Given the description of an element on the screen output the (x, y) to click on. 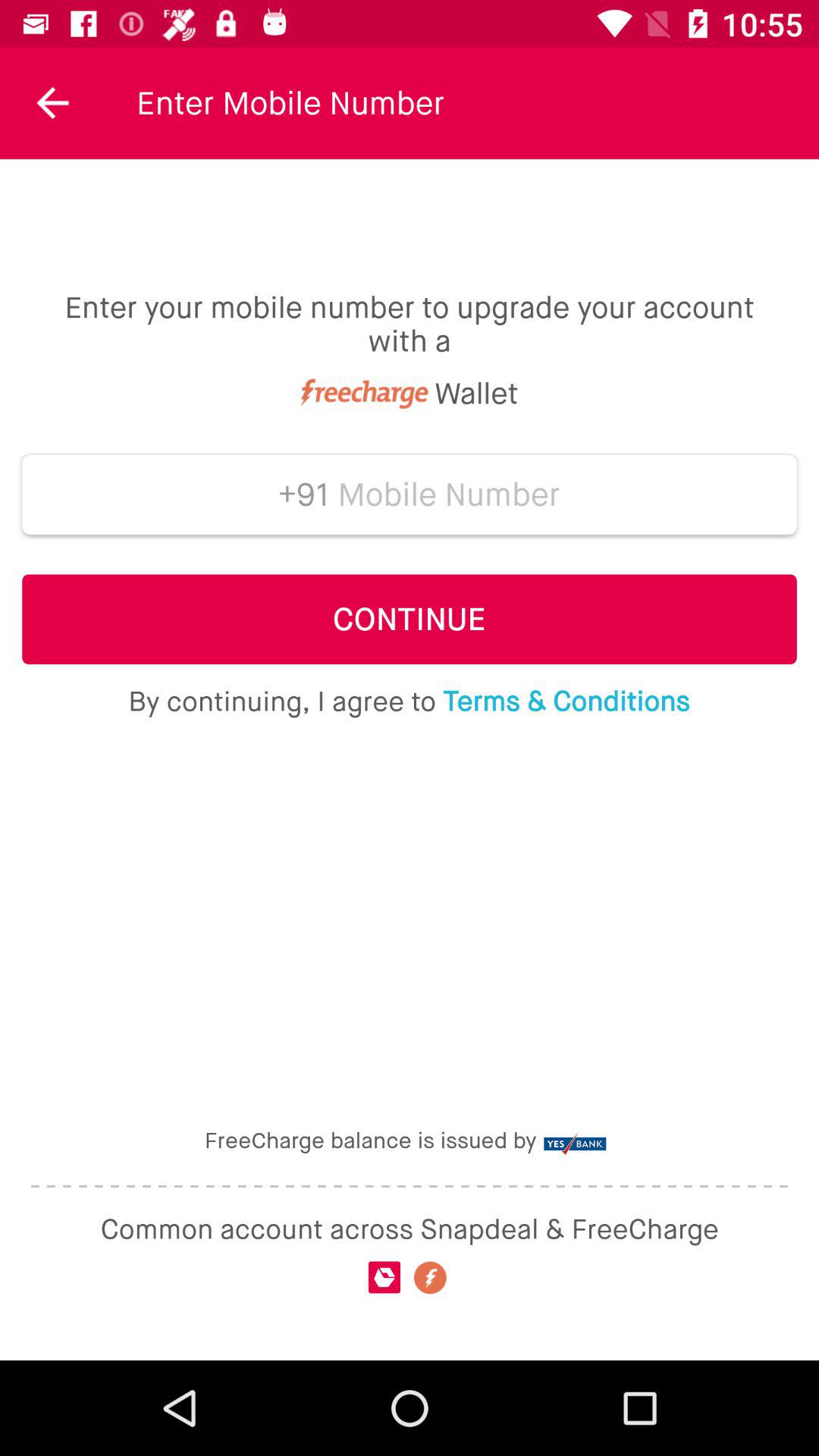
turn on the item above the enter your mobile icon (52, 102)
